Given the description of an element on the screen output the (x, y) to click on. 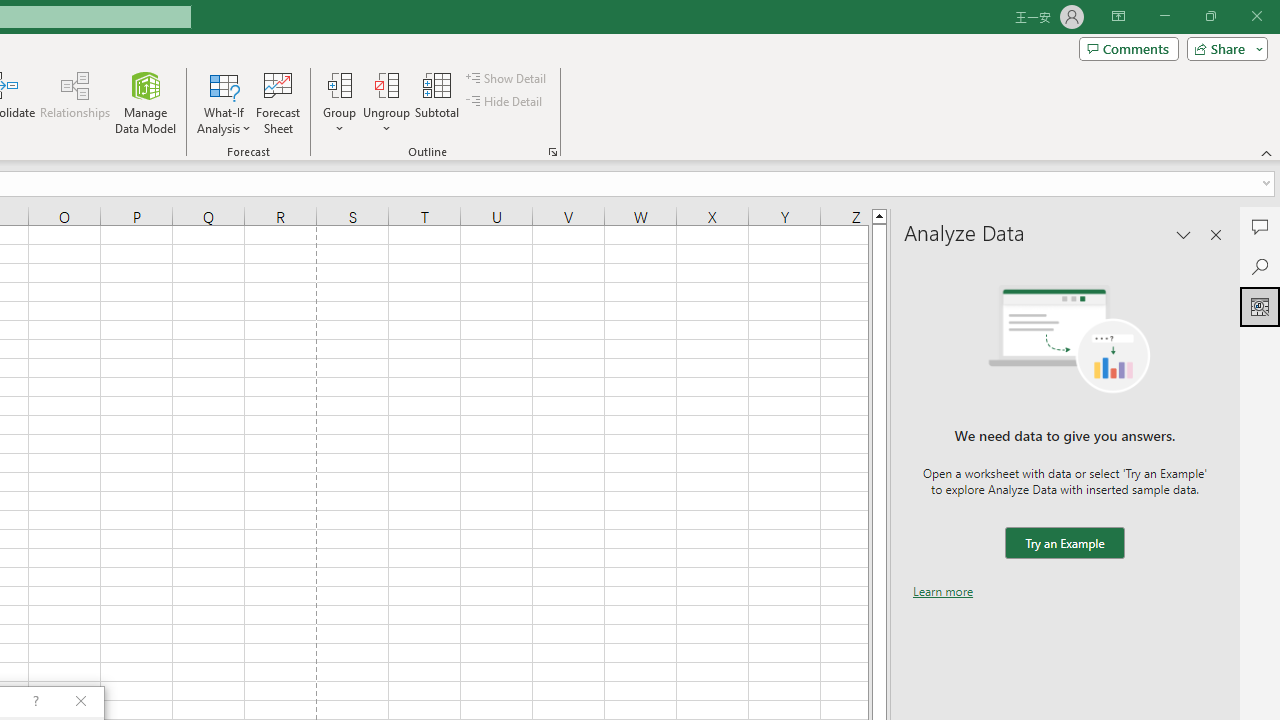
Learn more (943, 591)
Collapse the Ribbon (1267, 152)
Close (1256, 16)
Relationships (75, 102)
Ungroup... (386, 84)
Subtotal (437, 102)
Task Pane Options (1183, 234)
Show Detail (507, 78)
Restore Down (1210, 16)
Manage Data Model (145, 102)
Minimize (1164, 16)
Ribbon Display Options (1118, 16)
Group... (339, 102)
Comments (1260, 226)
